Given the description of an element on the screen output the (x, y) to click on. 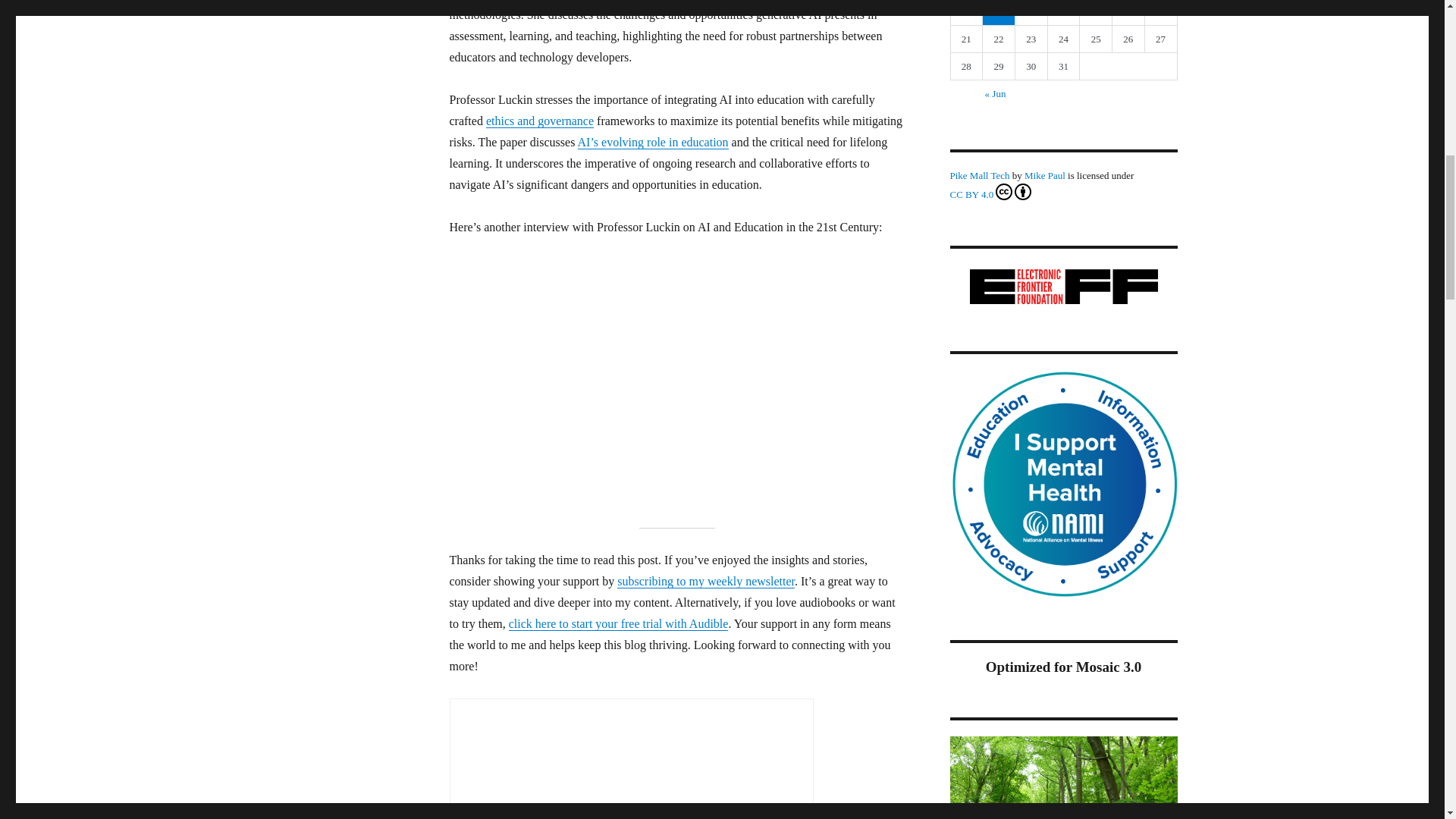
click here to start your free trial with Audible (618, 623)
subscribing to my weekly newsletter (705, 581)
ethics and governance (540, 120)
